Given the description of an element on the screen output the (x, y) to click on. 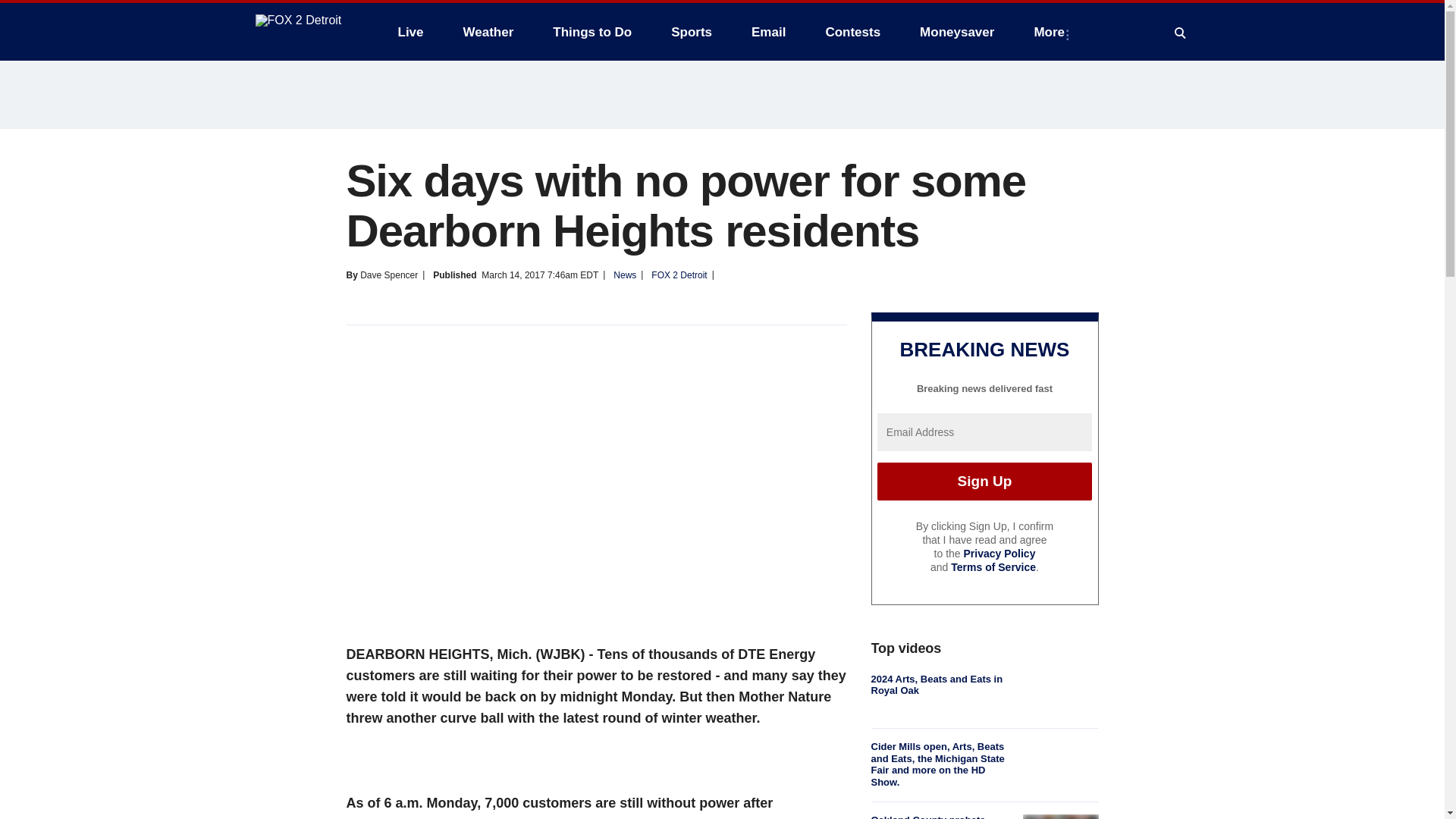
Email (768, 32)
Sports (691, 32)
Contests (852, 32)
Weather (488, 32)
More (1052, 32)
Things to Do (591, 32)
Moneysaver (956, 32)
Sign Up (984, 481)
Live (410, 32)
